Given the description of an element on the screen output the (x, y) to click on. 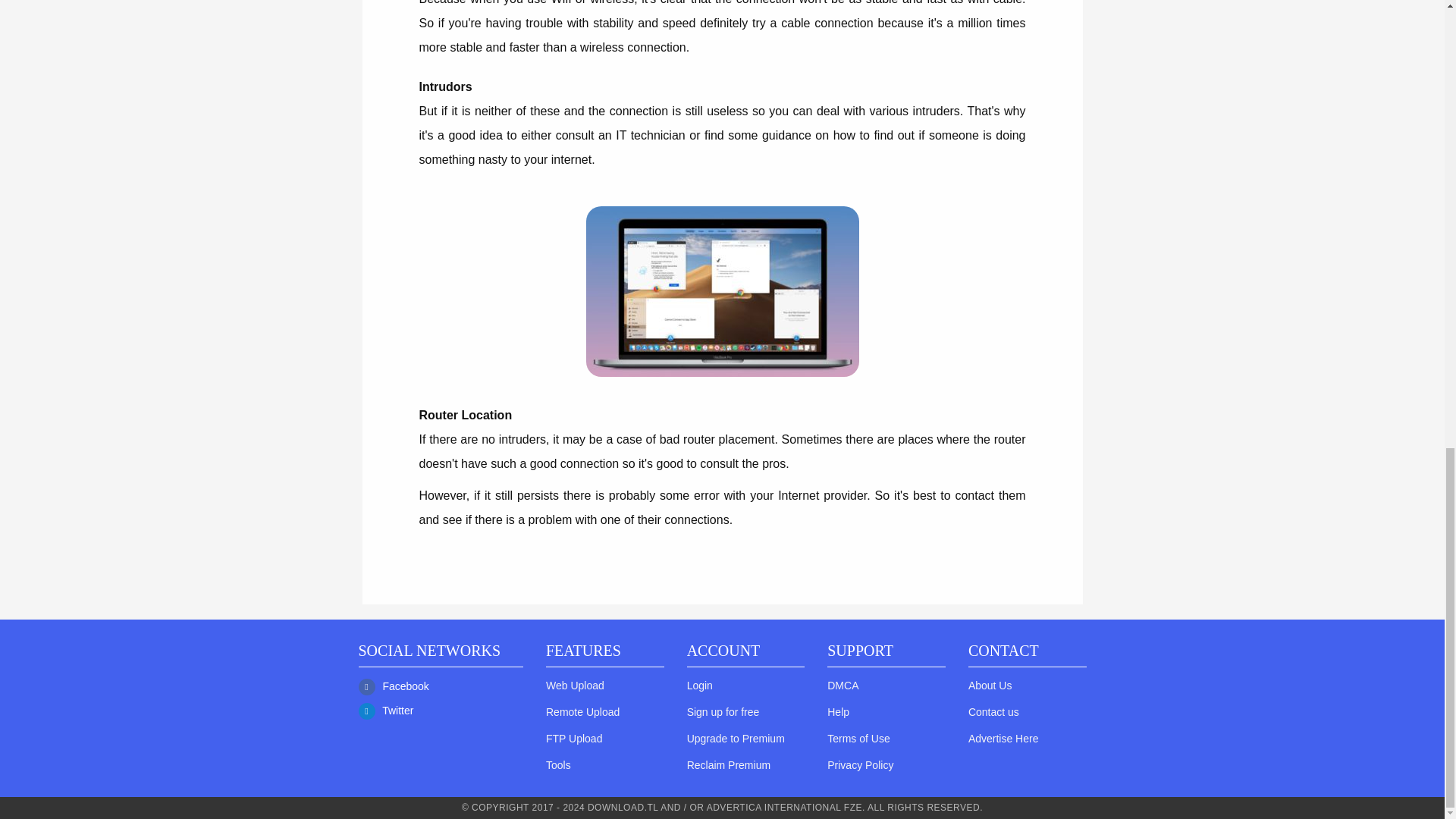
About Us (989, 685)
Advertise Here (1003, 738)
Web Upload (575, 685)
Tools (558, 765)
Help (837, 711)
Remote Upload (583, 711)
DMCA (843, 685)
Terms of Use (858, 738)
Contact us (993, 711)
Upgrade to Premium (735, 738)
Reclaim Premium (728, 765)
FTP Upload (574, 738)
Sign up for free (723, 711)
Login (700, 685)
Privacy Policy (860, 765)
